Given the description of an element on the screen output the (x, y) to click on. 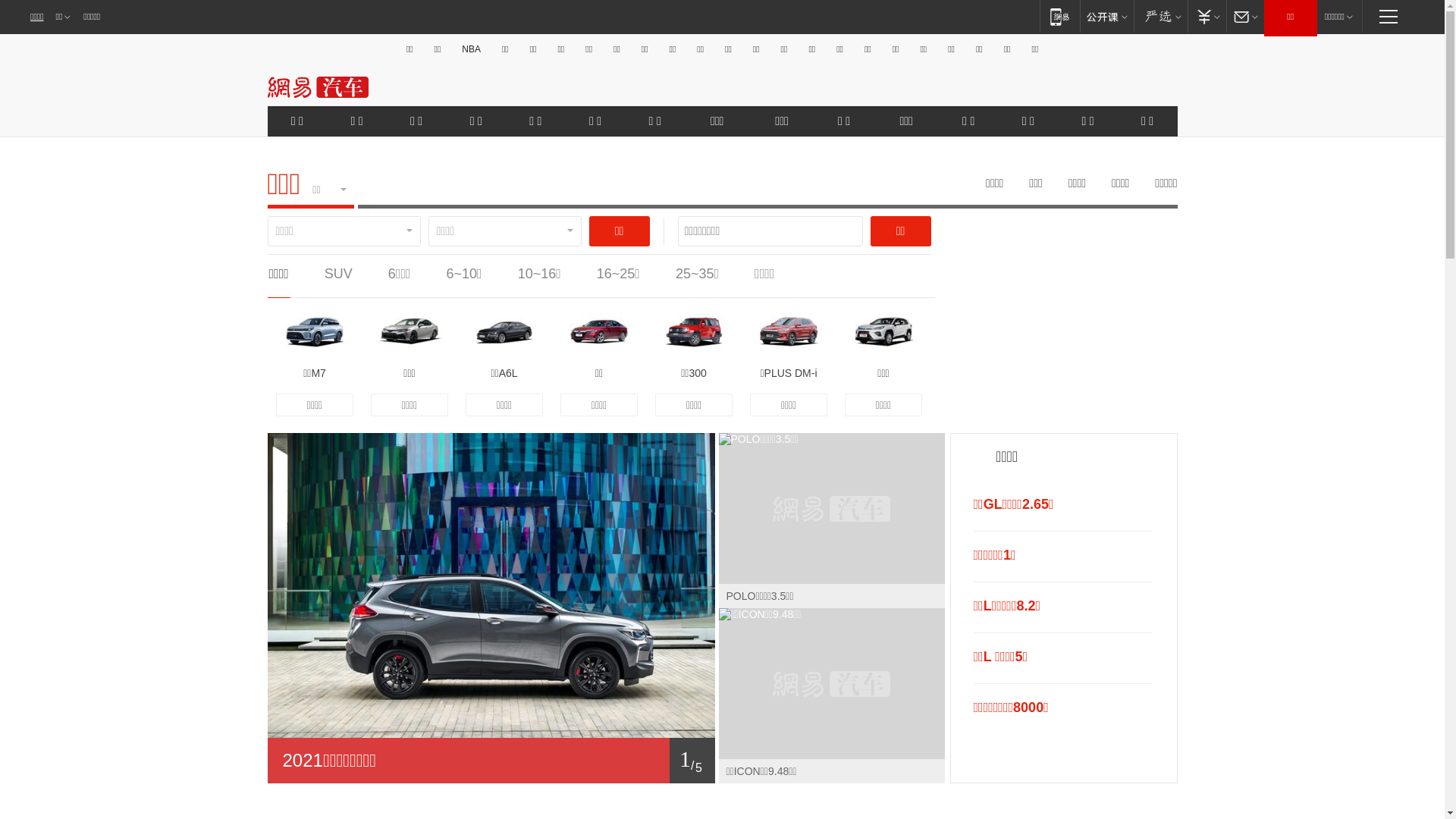
SUV Element type: text (338, 273)
NBA Element type: text (471, 48)
1/ 5 Element type: text (490, 760)
